Given the description of an element on the screen output the (x, y) to click on. 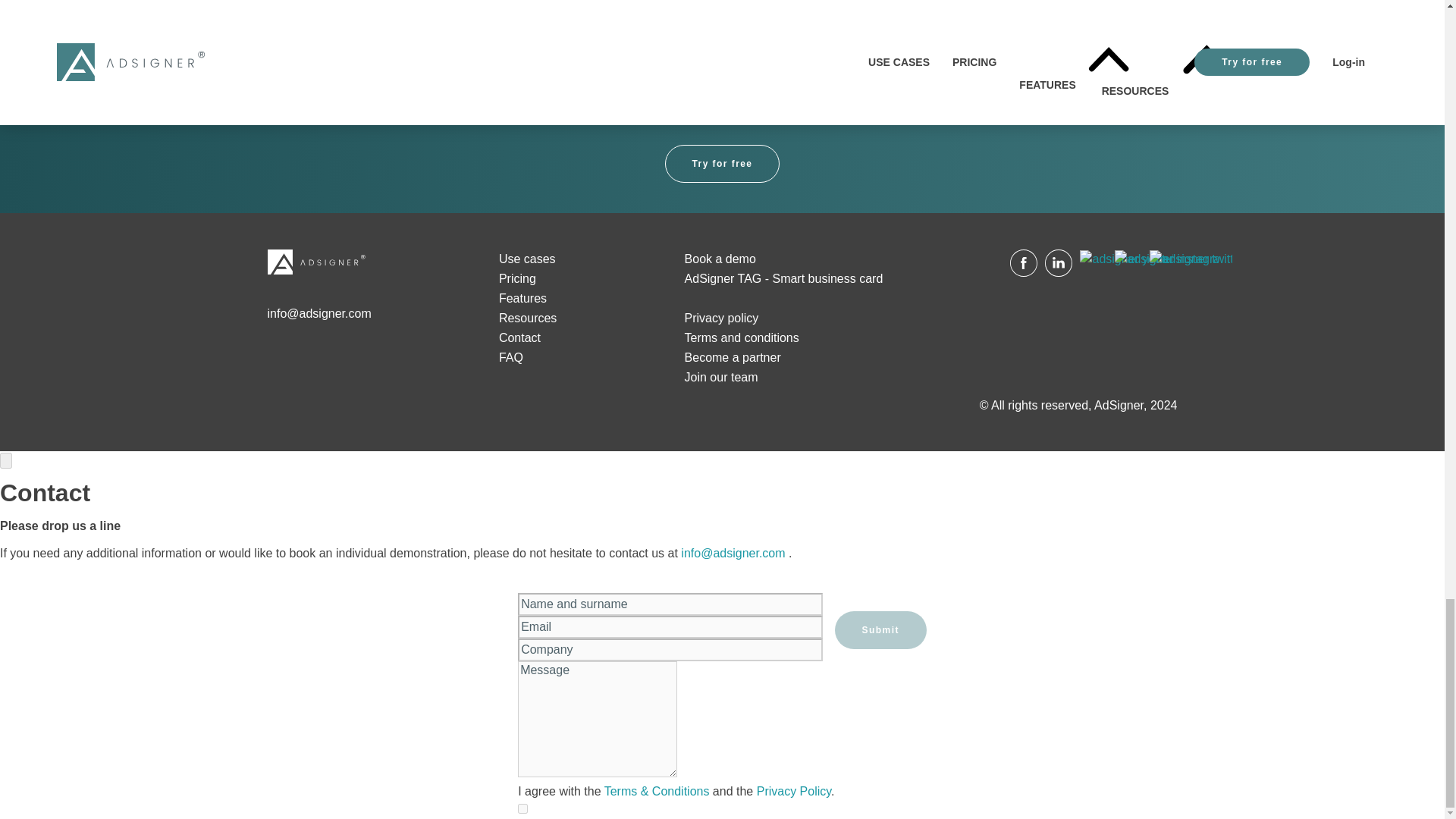
Pricing (517, 278)
Contact (519, 338)
Resources (527, 318)
Try for free (720, 163)
Features (523, 297)
Use cases (527, 258)
true (522, 808)
